Given the description of an element on the screen output the (x, y) to click on. 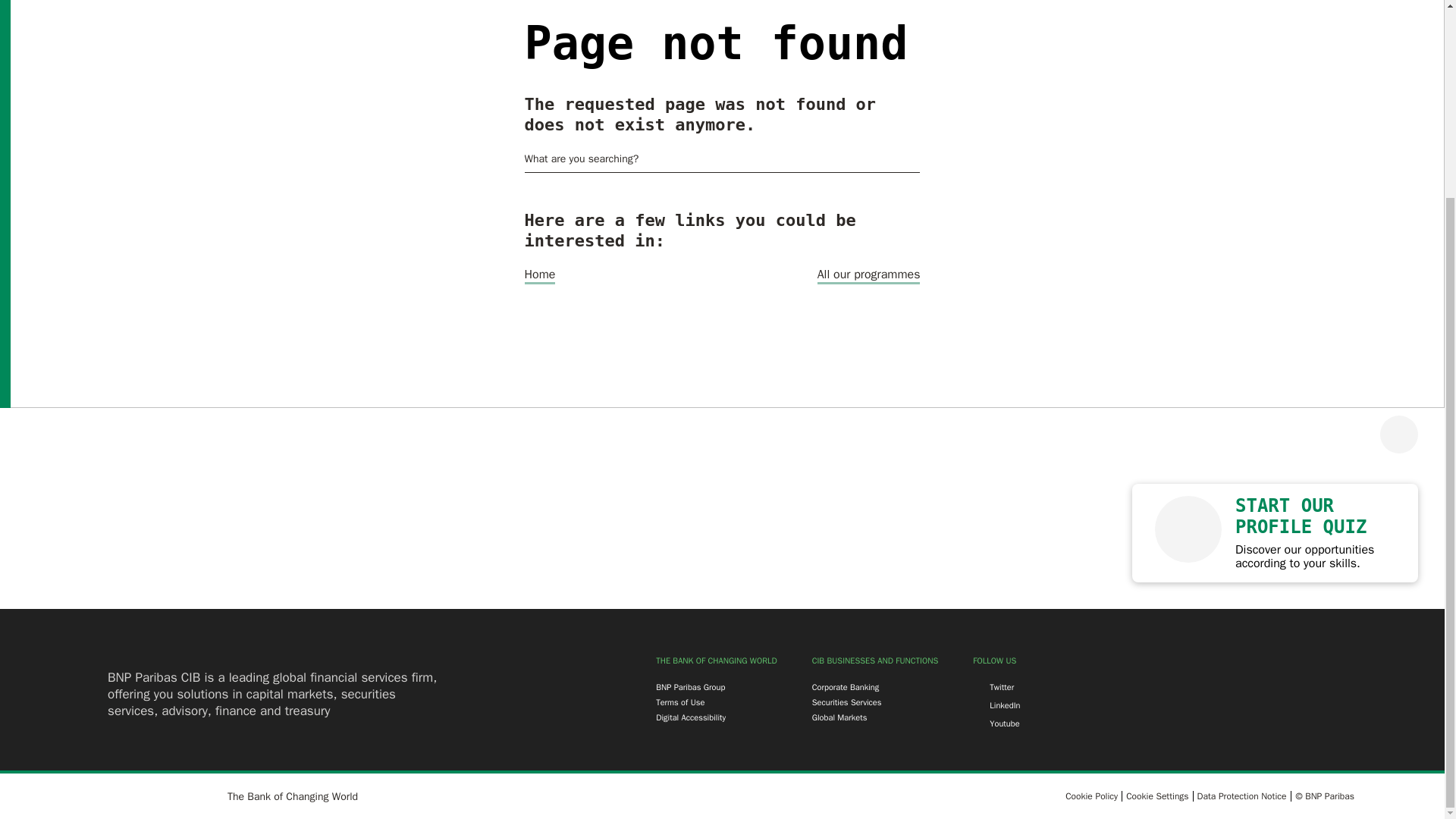
New tab (839, 717)
New tab (680, 702)
New tab (690, 717)
New tab (1091, 796)
New tab (690, 686)
Search (912, 159)
New tab (847, 702)
New tab (1241, 796)
Home (540, 275)
New tab (845, 686)
